Given the description of an element on the screen output the (x, y) to click on. 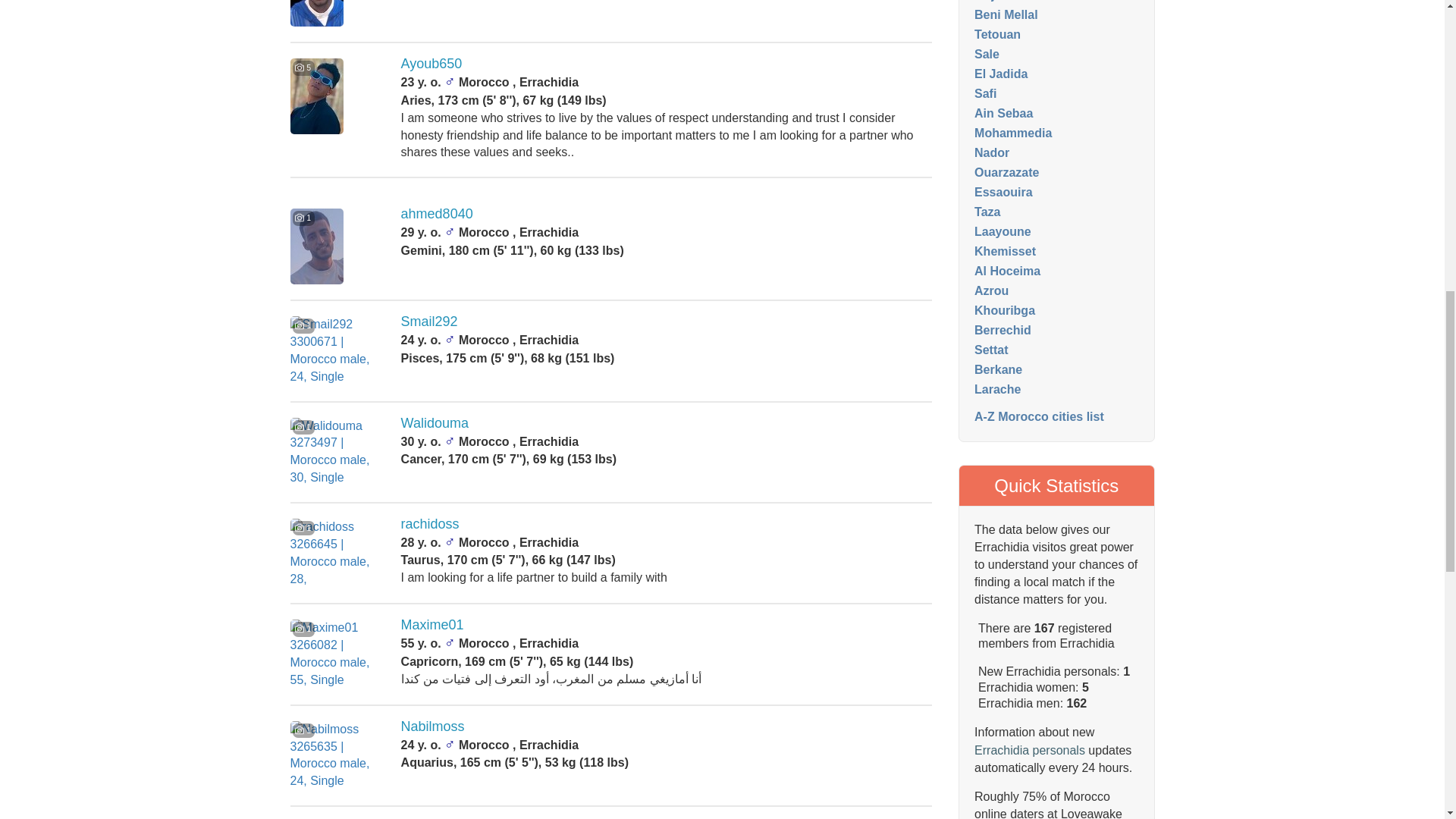
Ayoub650 (432, 63)
Walidouma (434, 422)
Smail292 (429, 321)
rachidoss (430, 523)
ahmed8040 (437, 213)
Nabilmoss (432, 726)
Maxime01 (432, 624)
